Given the description of an element on the screen output the (x, y) to click on. 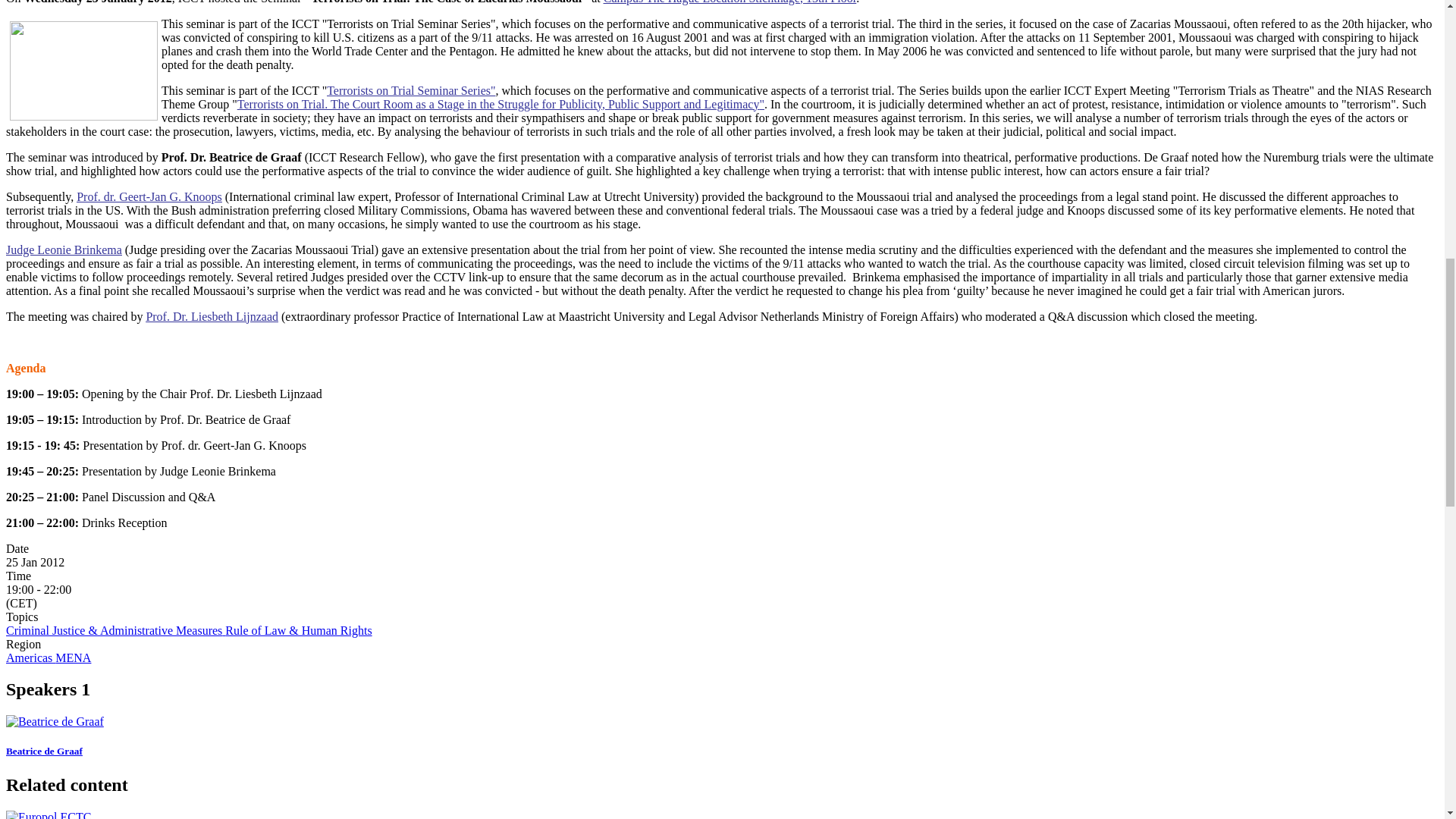
Campus The Hague Location Stichthage, 13th Floor (730, 2)
Terrorists on Trial Seminar Series (408, 89)
Judge Leonie Brinkema (63, 248)
Terrorists on Trial: A Performative Perspective (408, 89)
Prof. dr. Geert-Jan G. Knoops (149, 195)
